Given the description of an element on the screen output the (x, y) to click on. 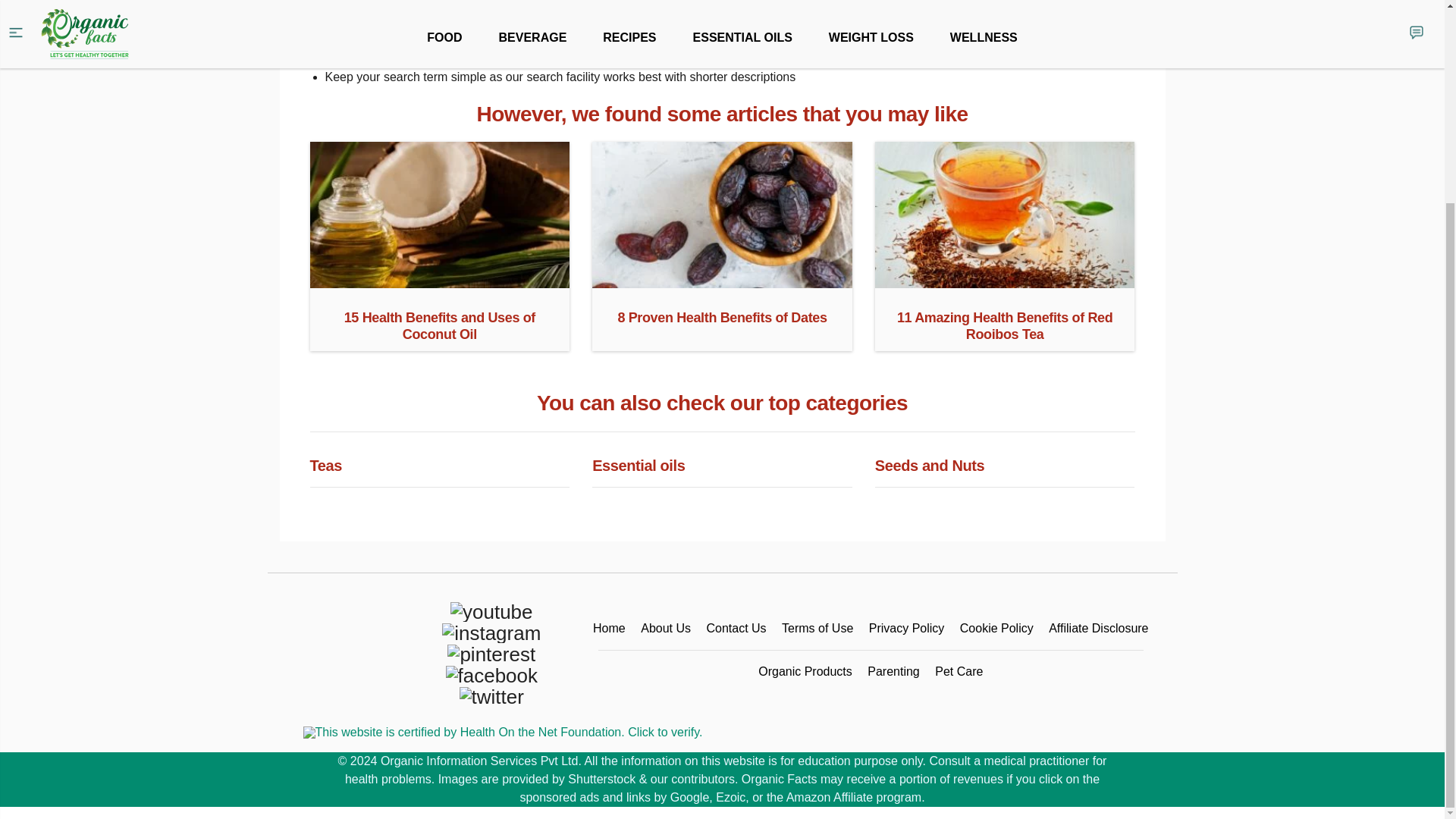
About Us (665, 627)
Parenting (893, 671)
8 Proven Health Benefits of Dates (721, 281)
Cookie Policy (996, 627)
11 Amazing Health Benefits of Red Rooibos Tea (1005, 281)
Pet Care (958, 671)
Affiliate Disclosure (1098, 627)
Organic Products (804, 671)
15 Health Benefits and Uses of Coconut Oil (438, 281)
Home (609, 627)
